Given the description of an element on the screen output the (x, y) to click on. 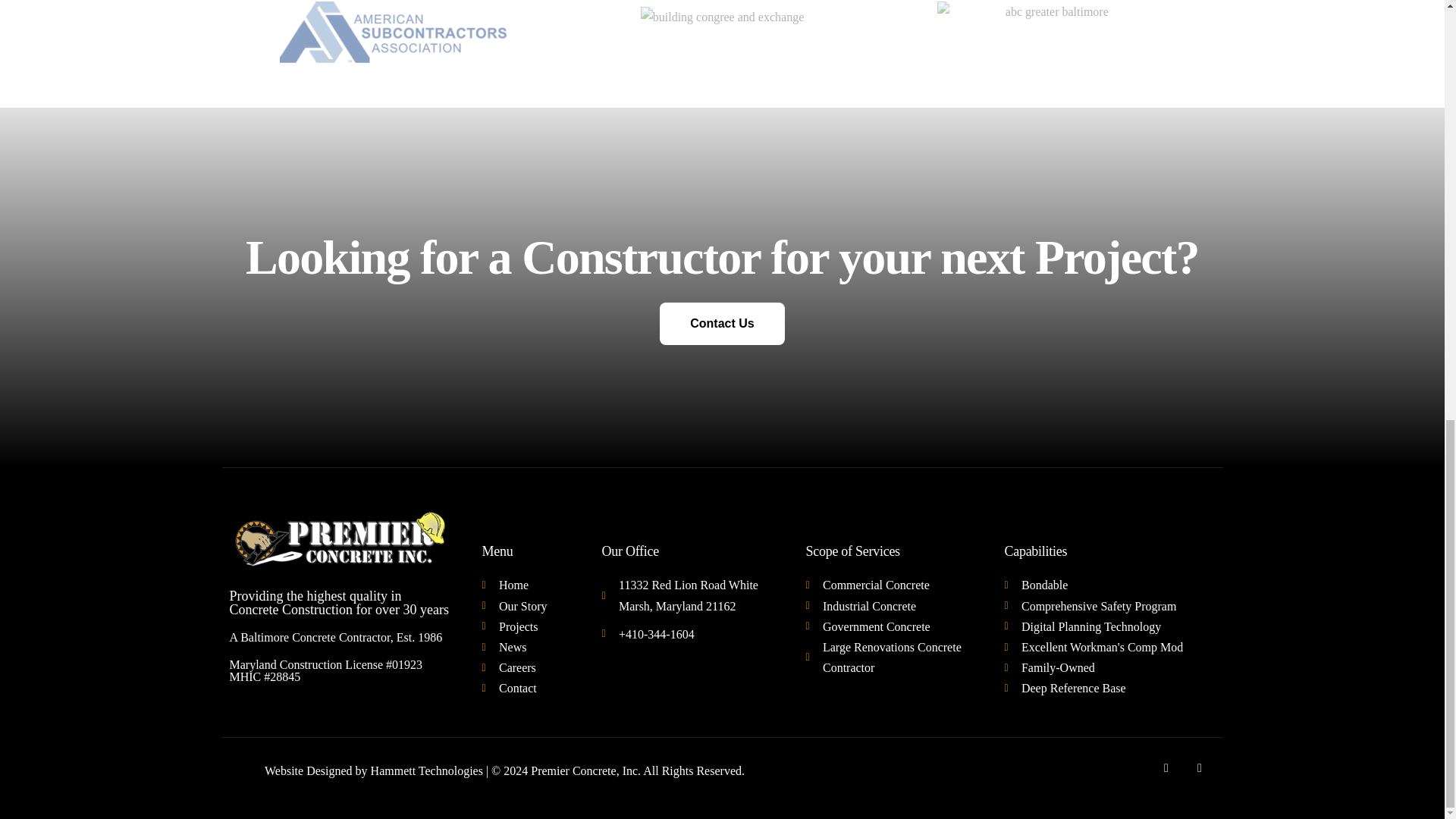
Our Story (525, 606)
Contact Us (721, 323)
Contact (525, 688)
Premier Concrete Logo White - Premier Concrete Inc. (339, 540)
News (525, 647)
Careers (525, 667)
Building Congress and Exchange (721, 16)
Home (525, 584)
